Given the description of an element on the screen output the (x, y) to click on. 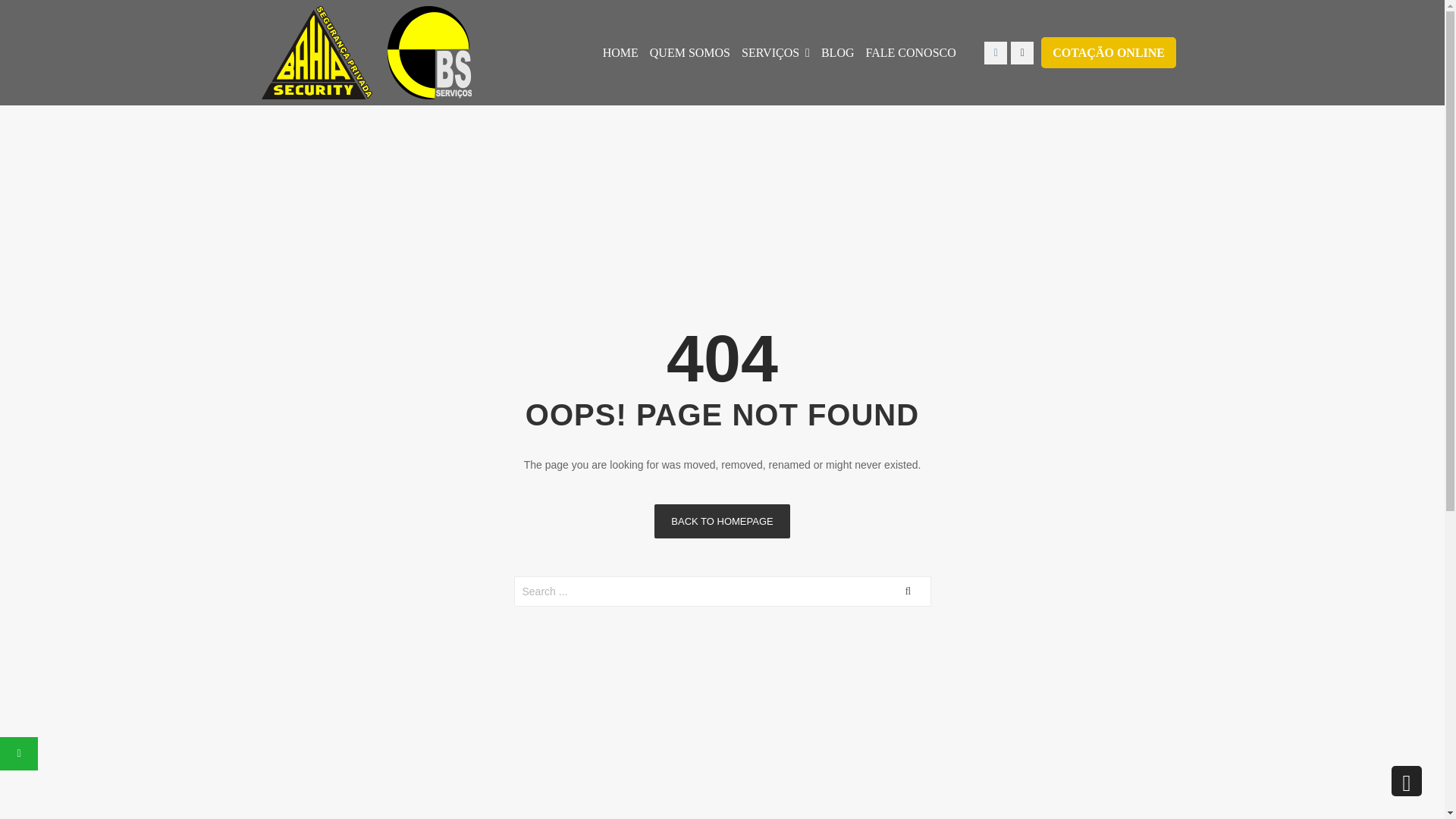
FALE CONOSCO (910, 52)
BACK TO HOMEPAGE (721, 521)
Instagram (1021, 51)
Search for (722, 591)
Back to top (1406, 780)
BLOG (837, 52)
QUEM SOMOS (689, 52)
HOME (619, 52)
Facebook (995, 51)
